Given the description of an element on the screen output the (x, y) to click on. 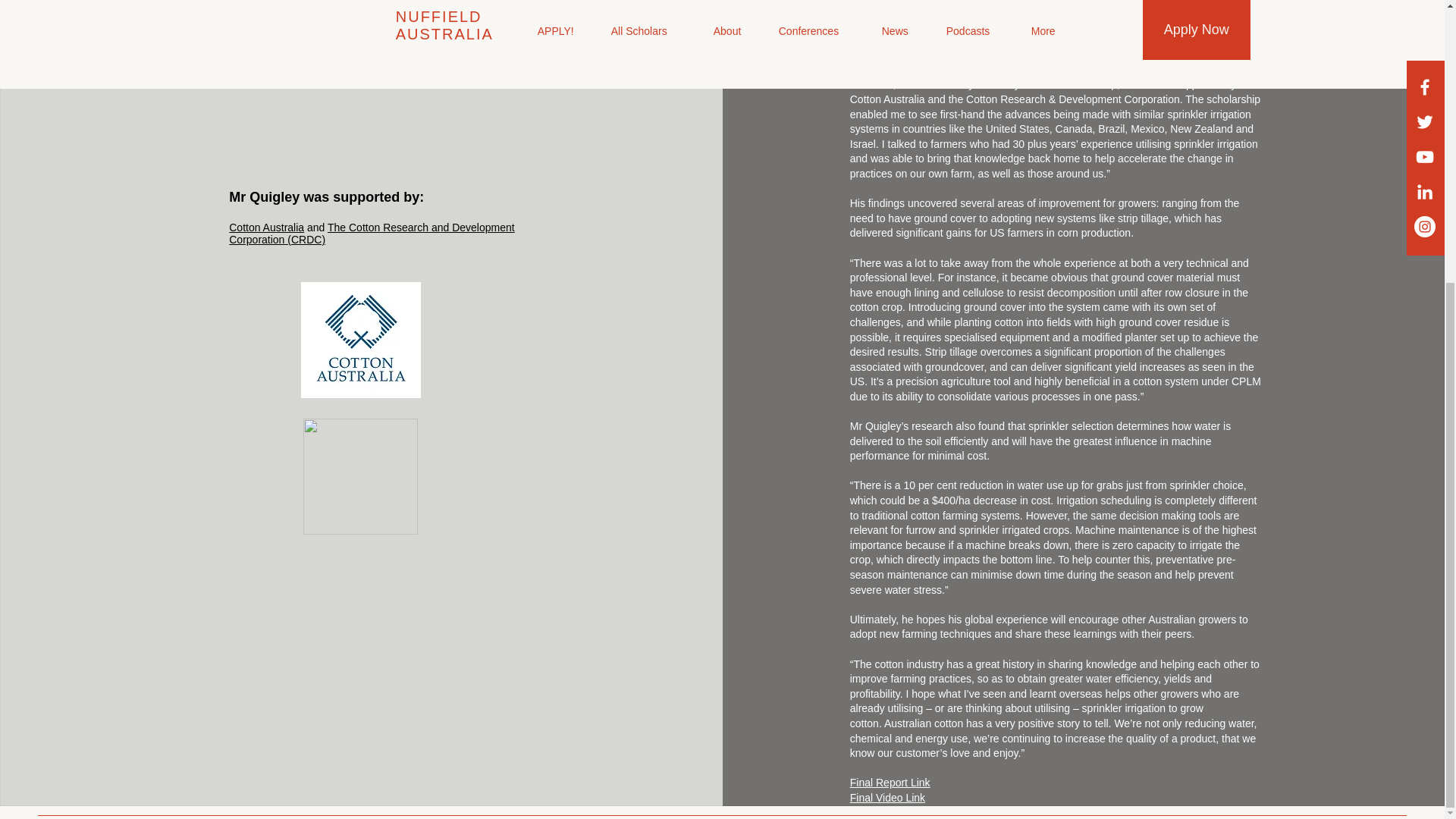
Cotton Australia logo - blue - high res. (360, 339)
